Given the description of an element on the screen output the (x, y) to click on. 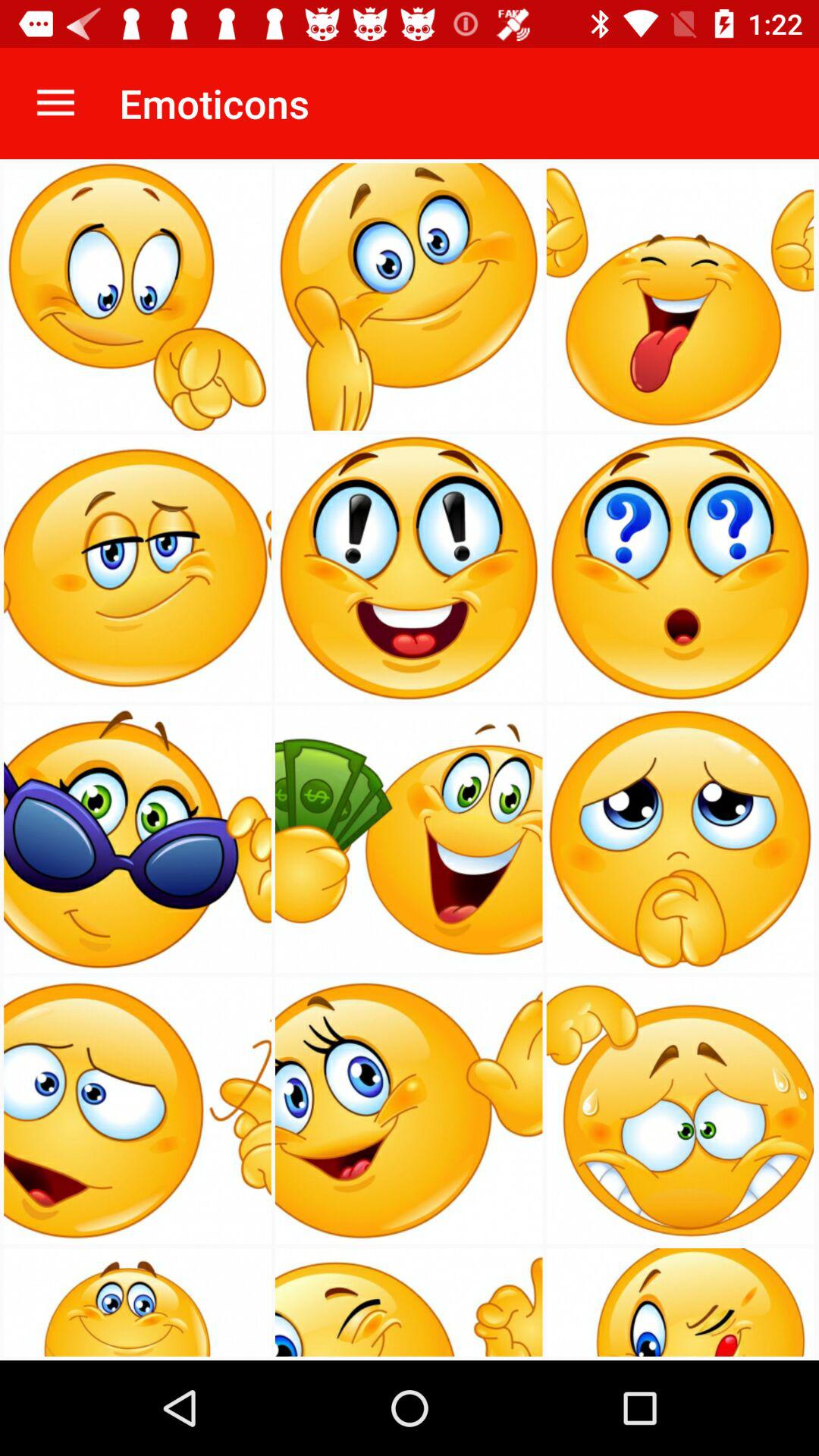
turn on the app to the left of emoticons app (55, 103)
